Given the description of an element on the screen output the (x, y) to click on. 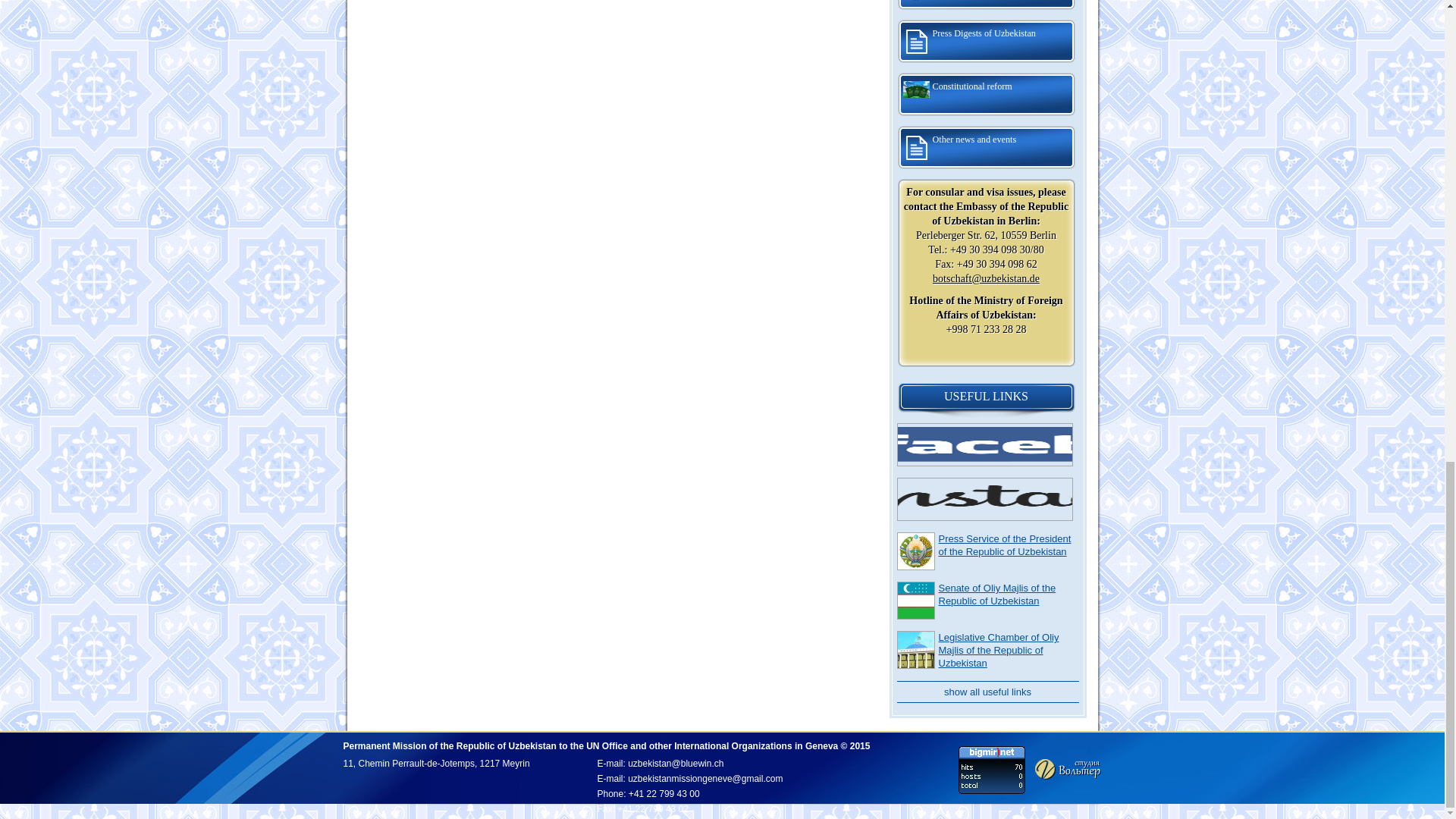
December 8 - Constitution Day of the Republic of Uzbekistan (985, 5)
Press Service of the President of the Republic of Uzbekistan (1005, 545)
Press Digests of Uzbekistan (985, 41)
Constitutional reform (985, 94)
Other news and events (985, 147)
